Given the description of an element on the screen output the (x, y) to click on. 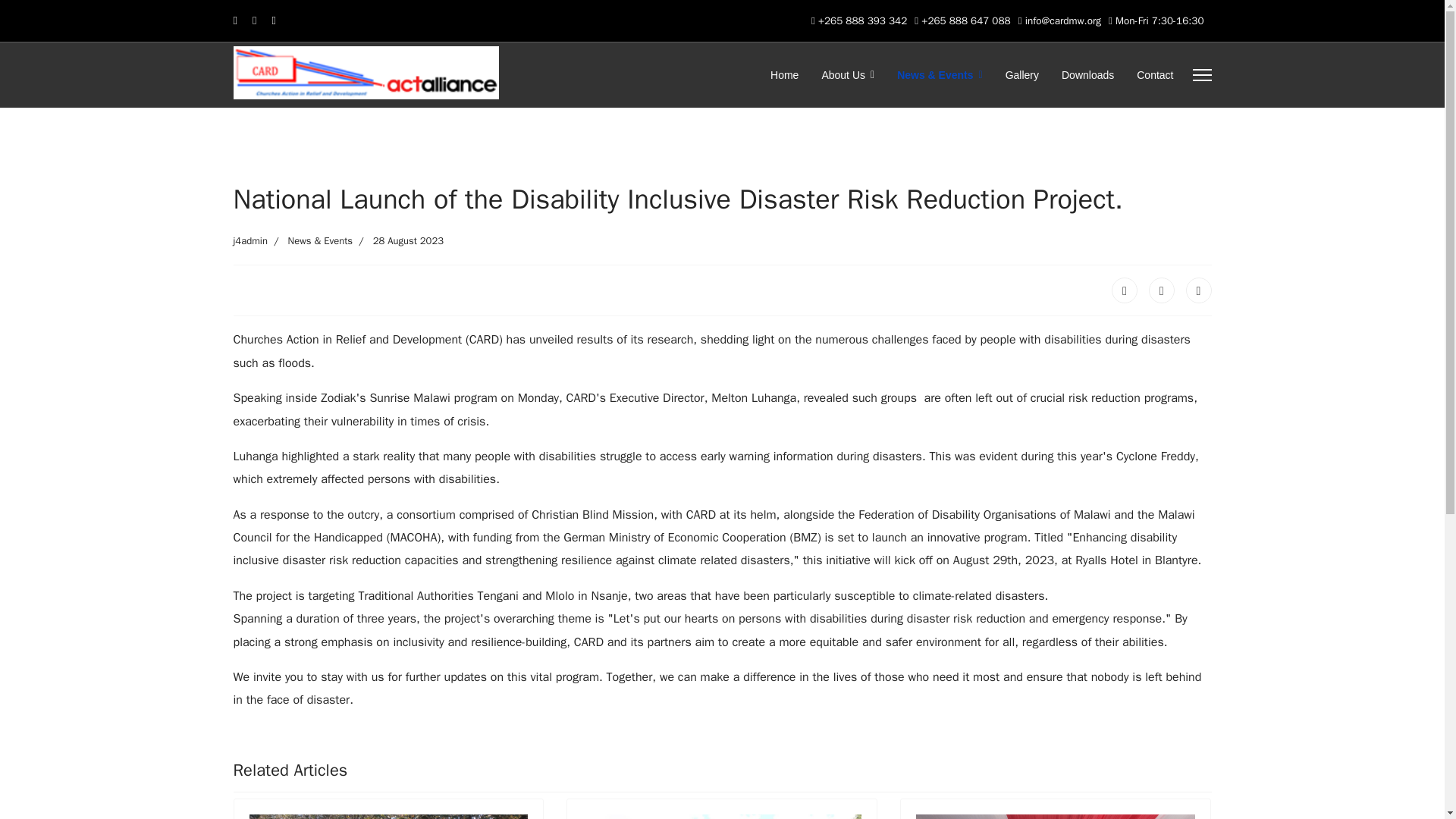
About Us (847, 75)
Published: 28 August 2023 (398, 241)
Written by: j4admin (249, 241)
Downloads (1087, 75)
LinkedIn (1198, 290)
Twitter (1161, 290)
Gallery (1021, 75)
Facebook (1124, 290)
